Given the description of an element on the screen output the (x, y) to click on. 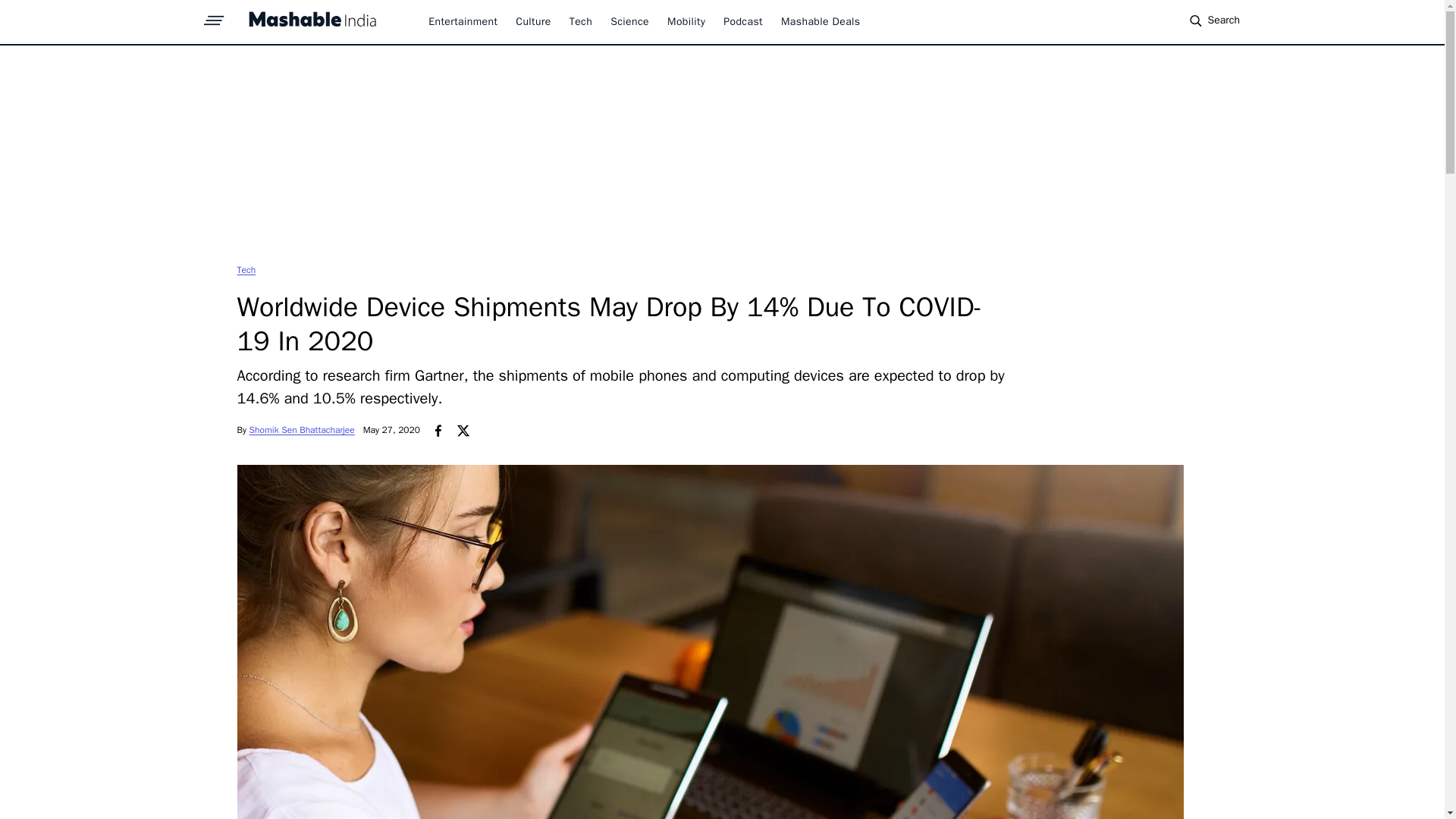
Shomik Sen Bhattacharjee (301, 429)
Entertainment (462, 21)
Tech (580, 21)
Culture (532, 21)
sprite-hamburger (213, 16)
Science (629, 21)
Mobility (685, 21)
Tech (245, 269)
Podcast (742, 21)
Mashable Deals (820, 21)
